Given the description of an element on the screen output the (x, y) to click on. 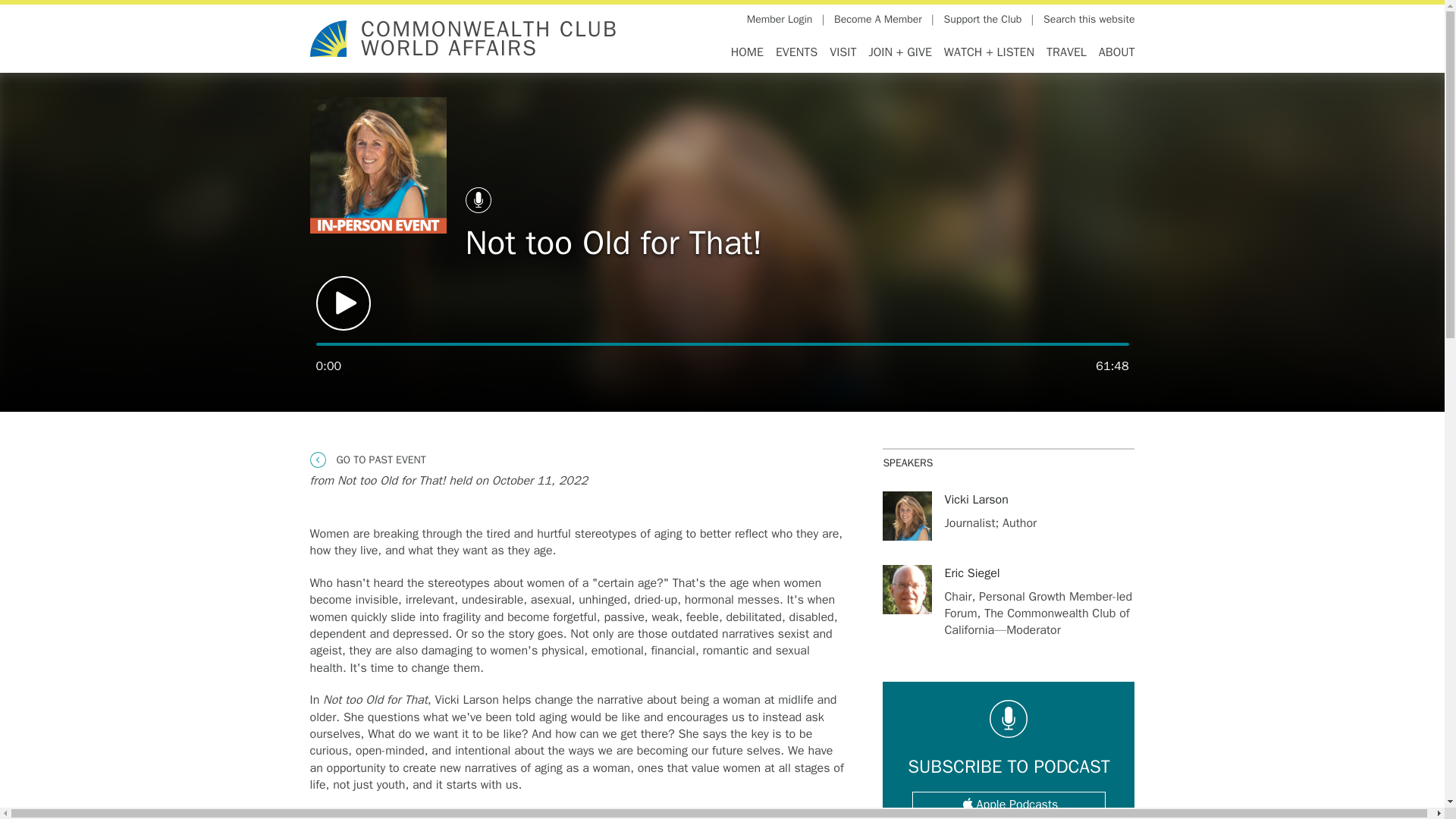
Visit the Club (842, 51)
Become A Member (877, 19)
About (1114, 51)
HOME (747, 51)
Not too Old for That! (376, 165)
VISIT (842, 51)
COMMONWEALTH CLUB WORLD AFFAIRS (489, 38)
Support the Club (982, 19)
Member Login (779, 19)
Search this website (1089, 19)
